Given the description of an element on the screen output the (x, y) to click on. 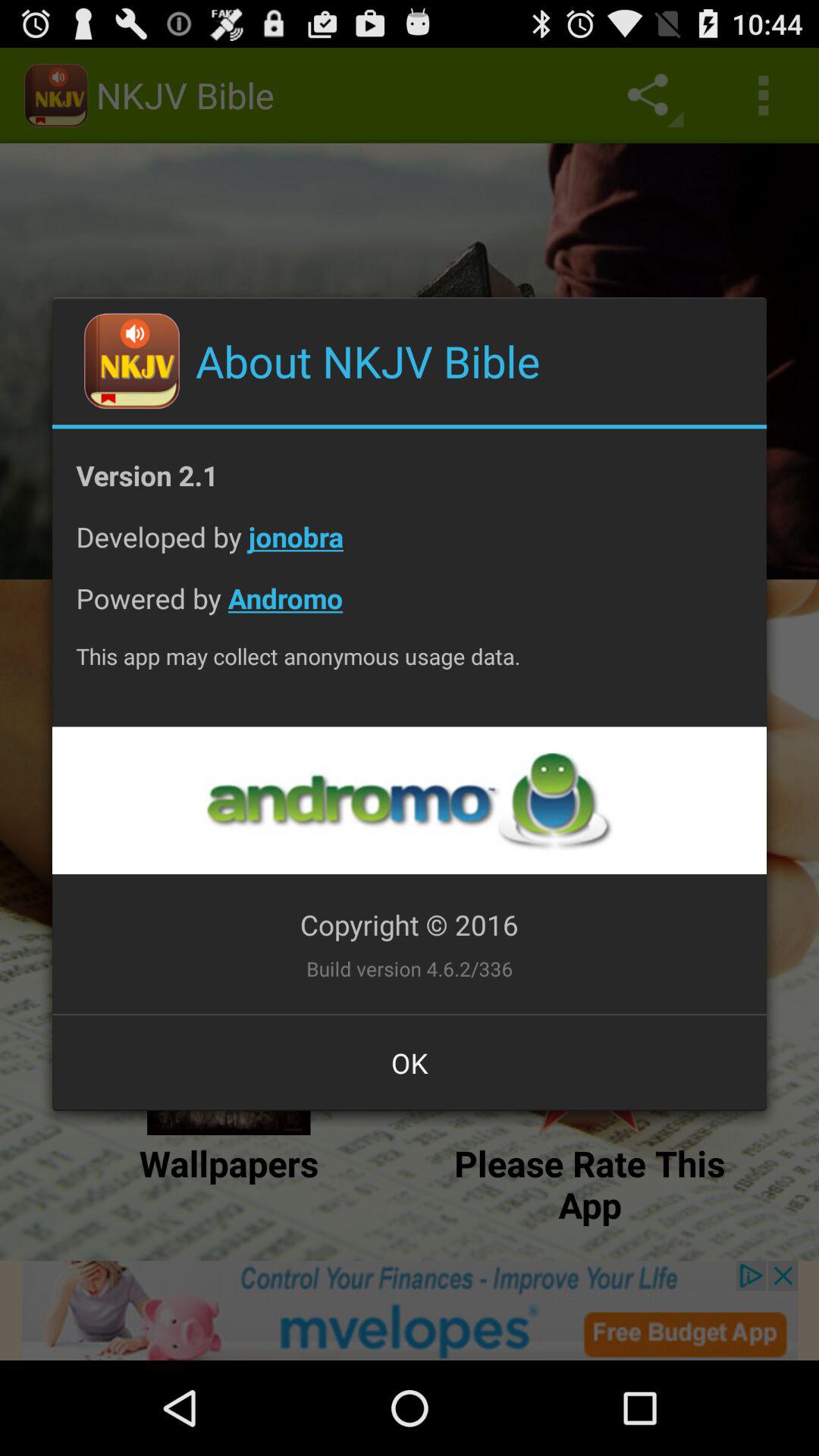
open the powered by andromo (409, 609)
